Given the description of an element on the screen output the (x, y) to click on. 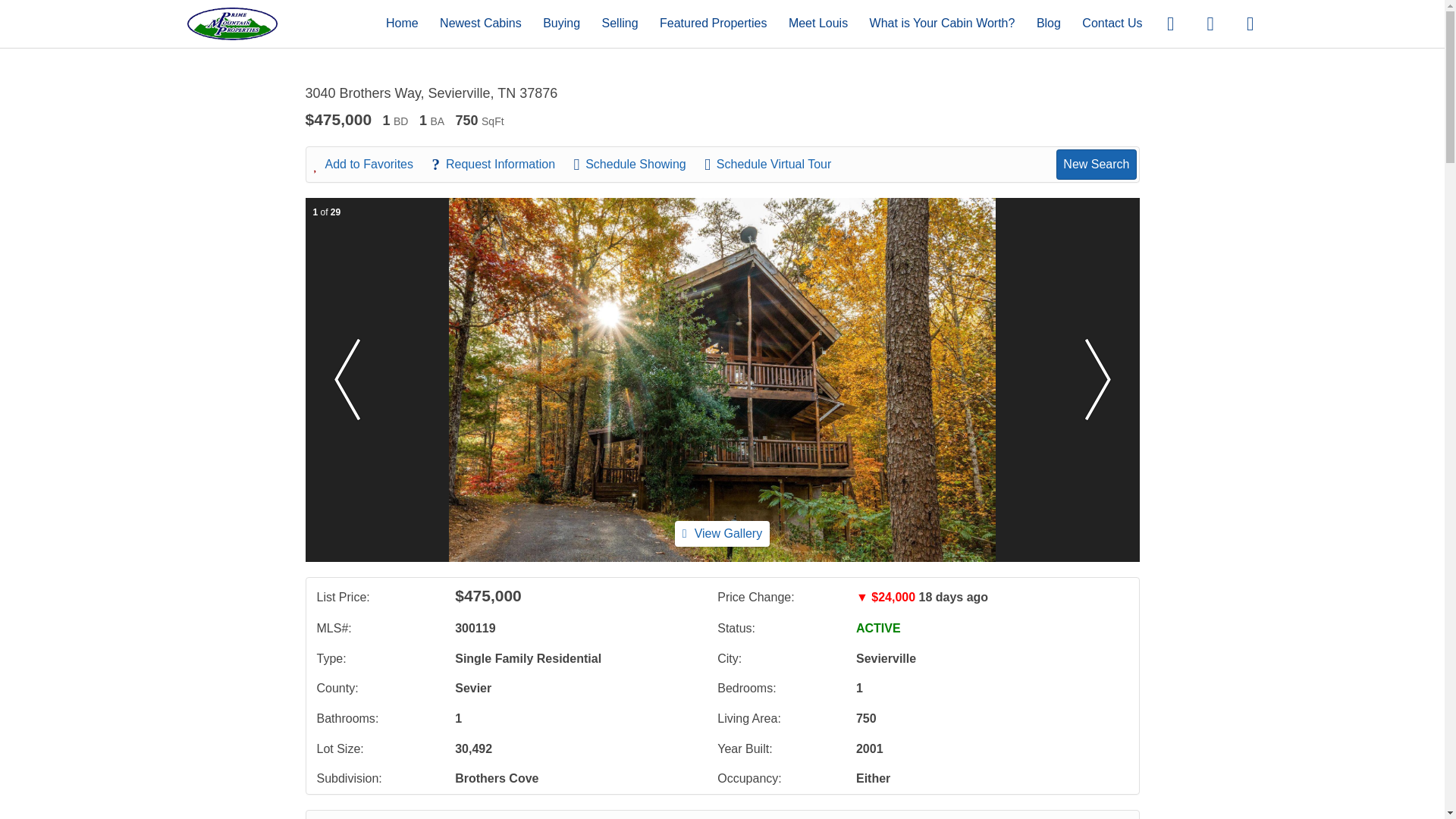
Featured Properties (713, 22)
New Search (1090, 817)
View Gallery (722, 533)
What is Your Cabin Worth? (941, 22)
Meet Louis (818, 22)
Selling (620, 22)
View on Map (521, 817)
Add to Favorites (371, 164)
New Search (1096, 164)
Newest Cabins (480, 22)
